Given the description of an element on the screen output the (x, y) to click on. 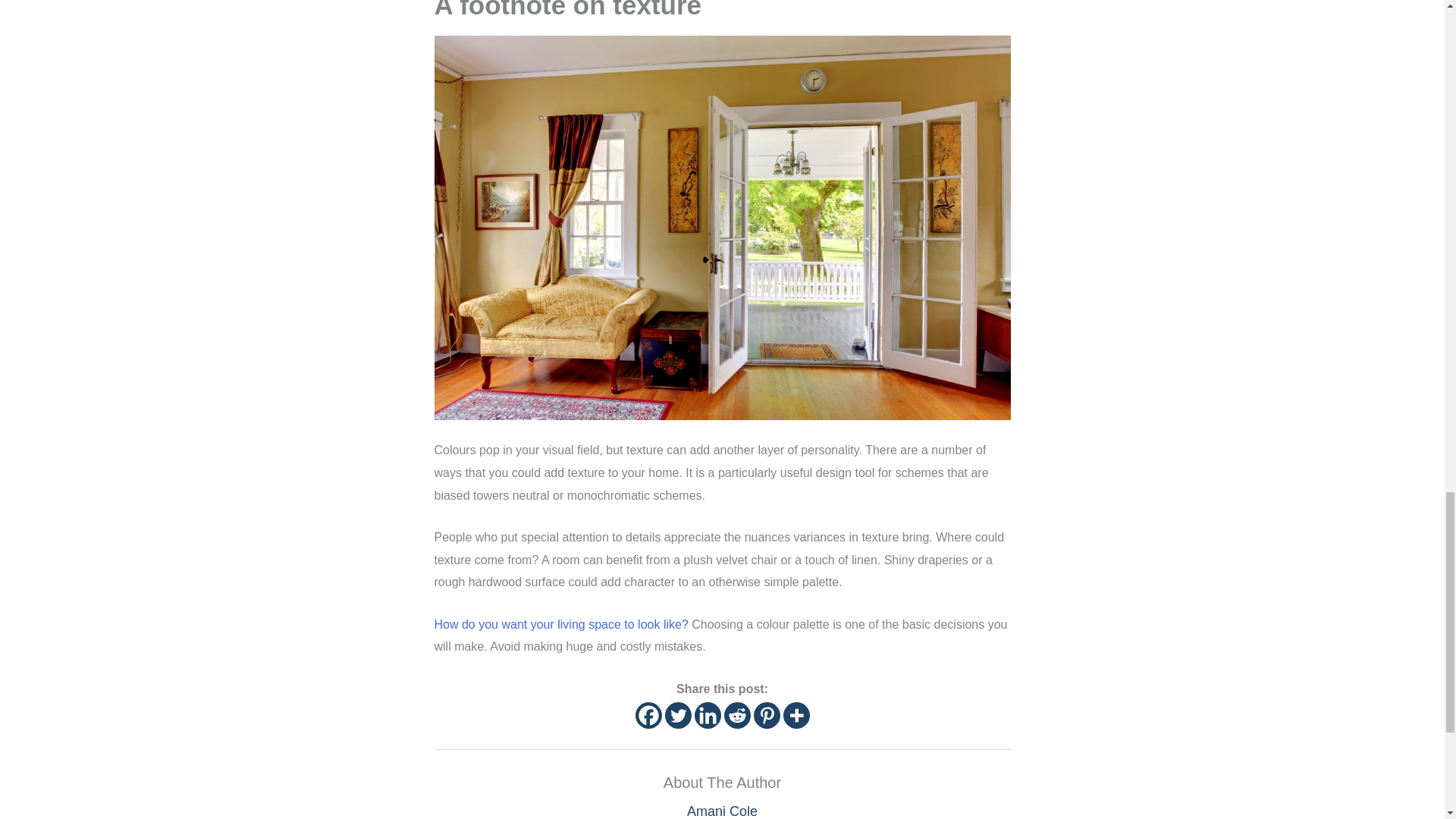
How do you want your living space to look like? (560, 624)
Reddit (736, 714)
Twitter (676, 714)
Linkedin (707, 714)
Facebook (648, 714)
Pinterest (767, 714)
More (796, 714)
Amani Cole (721, 811)
